Given the description of an element on the screen output the (x, y) to click on. 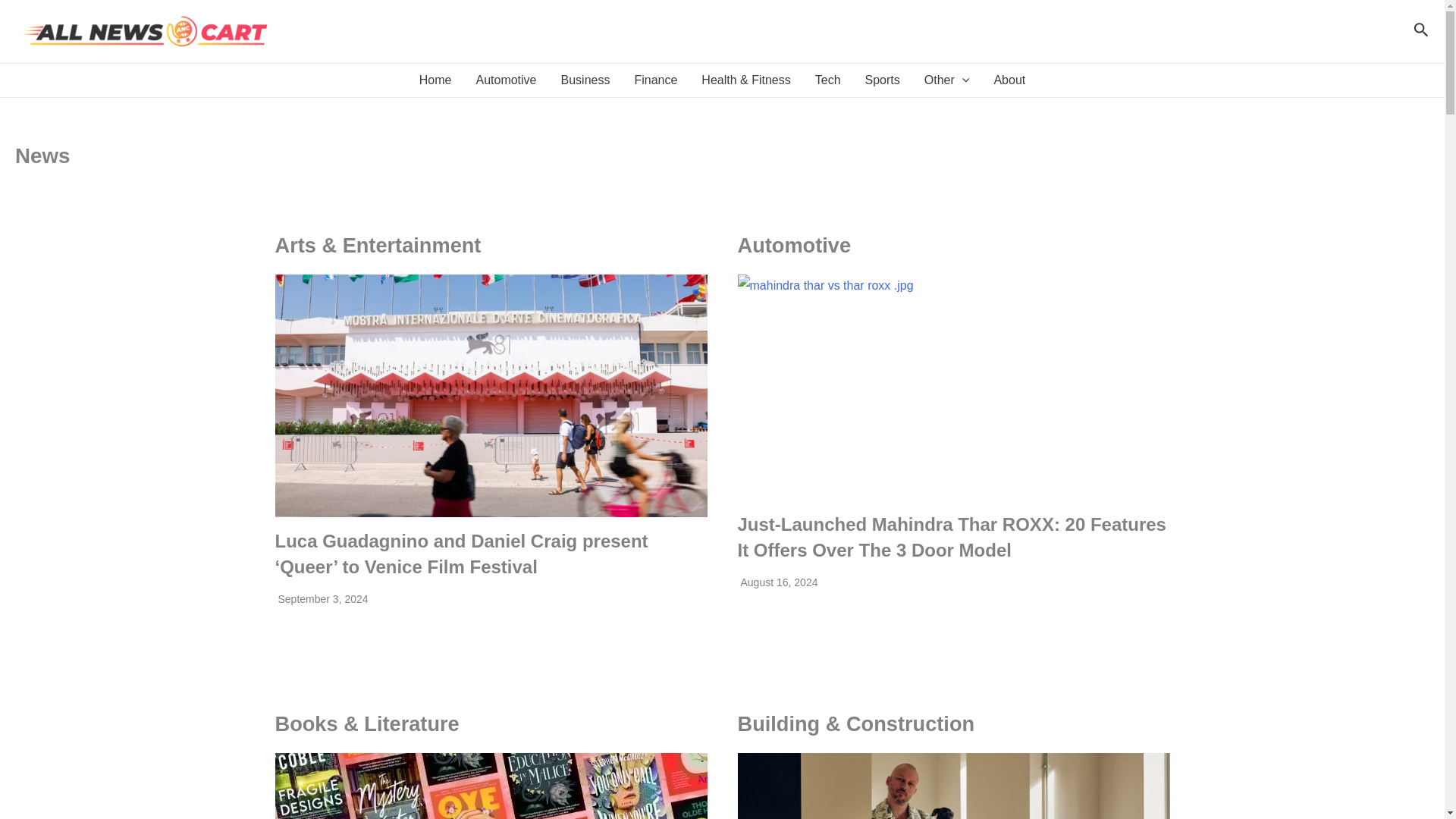
Tech (828, 80)
Finance (654, 80)
News 4 (490, 785)
News 3 (952, 387)
Business (585, 80)
Other (946, 80)
About (1008, 80)
News 5 (952, 785)
Sports (882, 80)
Home (435, 80)
